Given the description of an element on the screen output the (x, y) to click on. 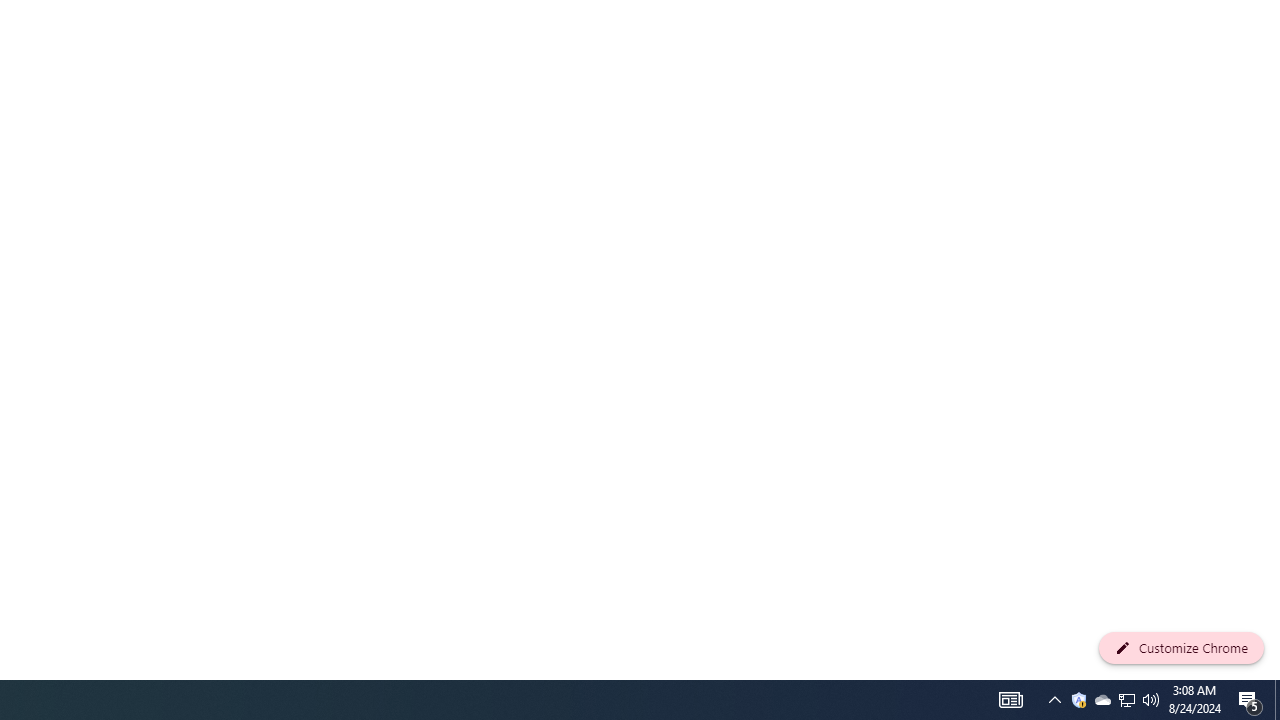
Customize Chrome (1181, 647)
